Given the description of an element on the screen output the (x, y) to click on. 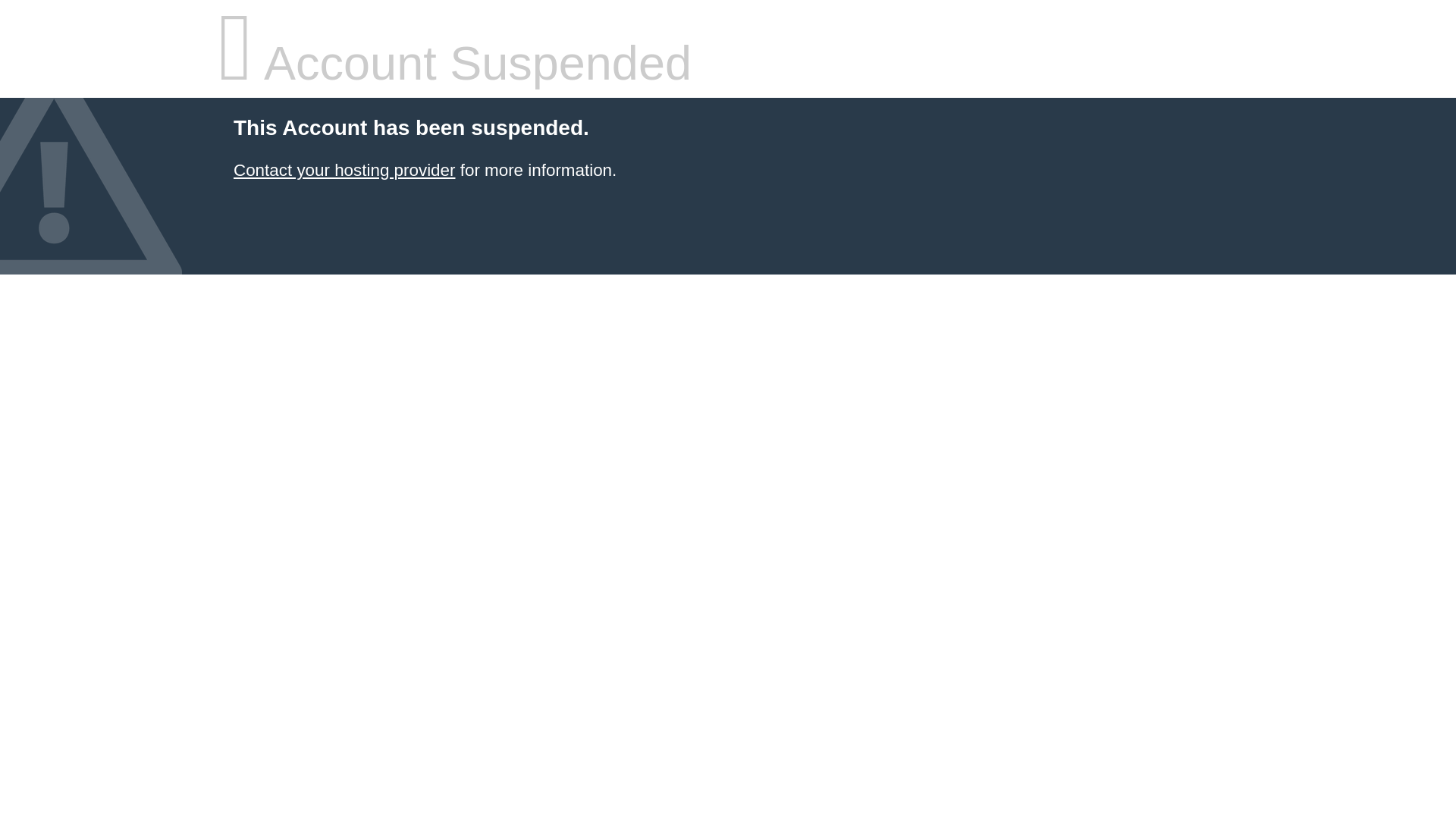
Contact your hosting provider (343, 169)
